Given the description of an element on the screen output the (x, y) to click on. 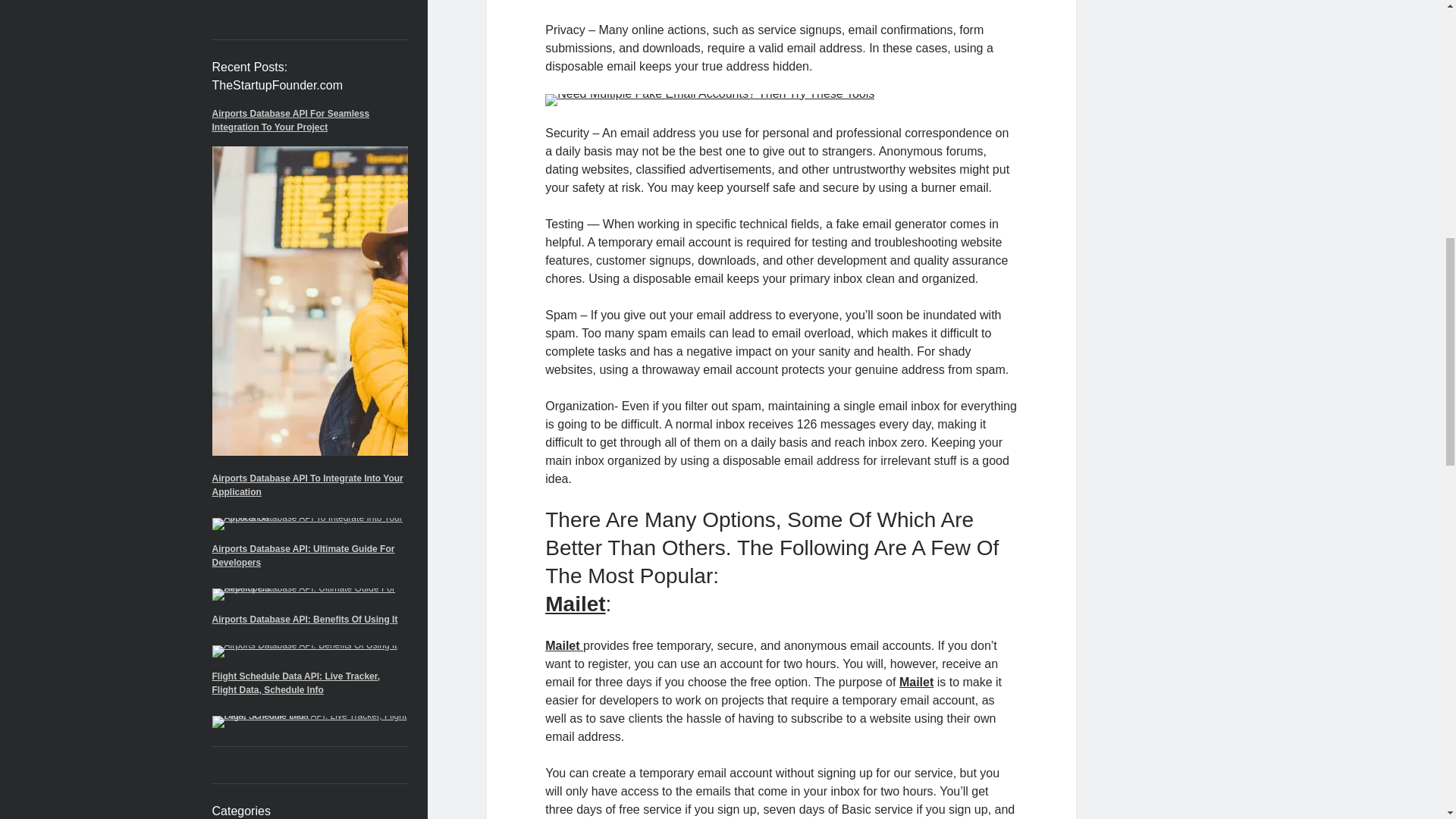
Airports Database API: Benefits Of Using It (304, 619)
Airports Database API: Ultimate Guide For Developers (303, 555)
Airports Database API To Integrate Into Your Application (307, 485)
